Given the description of an element on the screen output the (x, y) to click on. 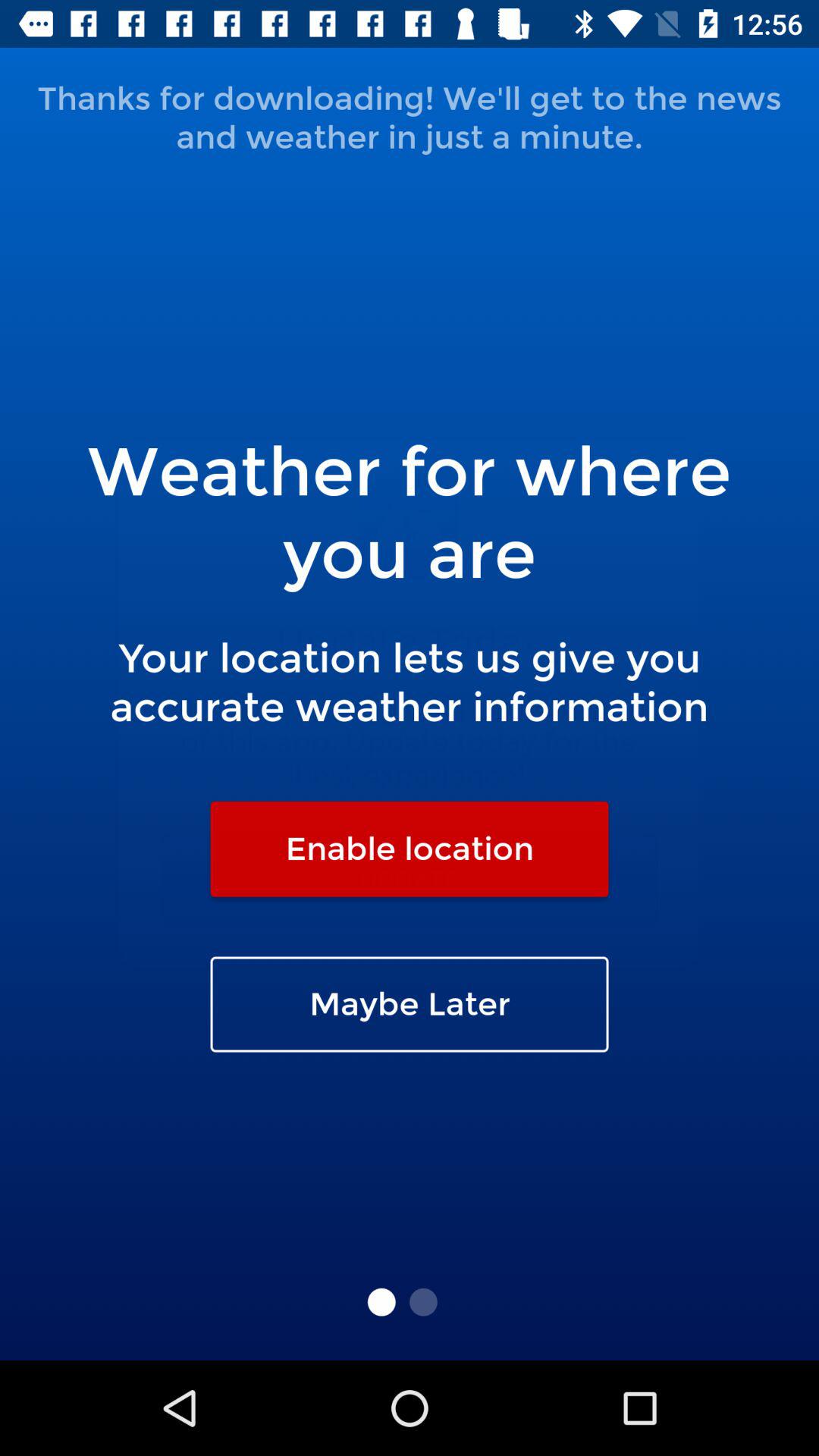
click item below the enable location (409, 1004)
